Given the description of an element on the screen output the (x, y) to click on. 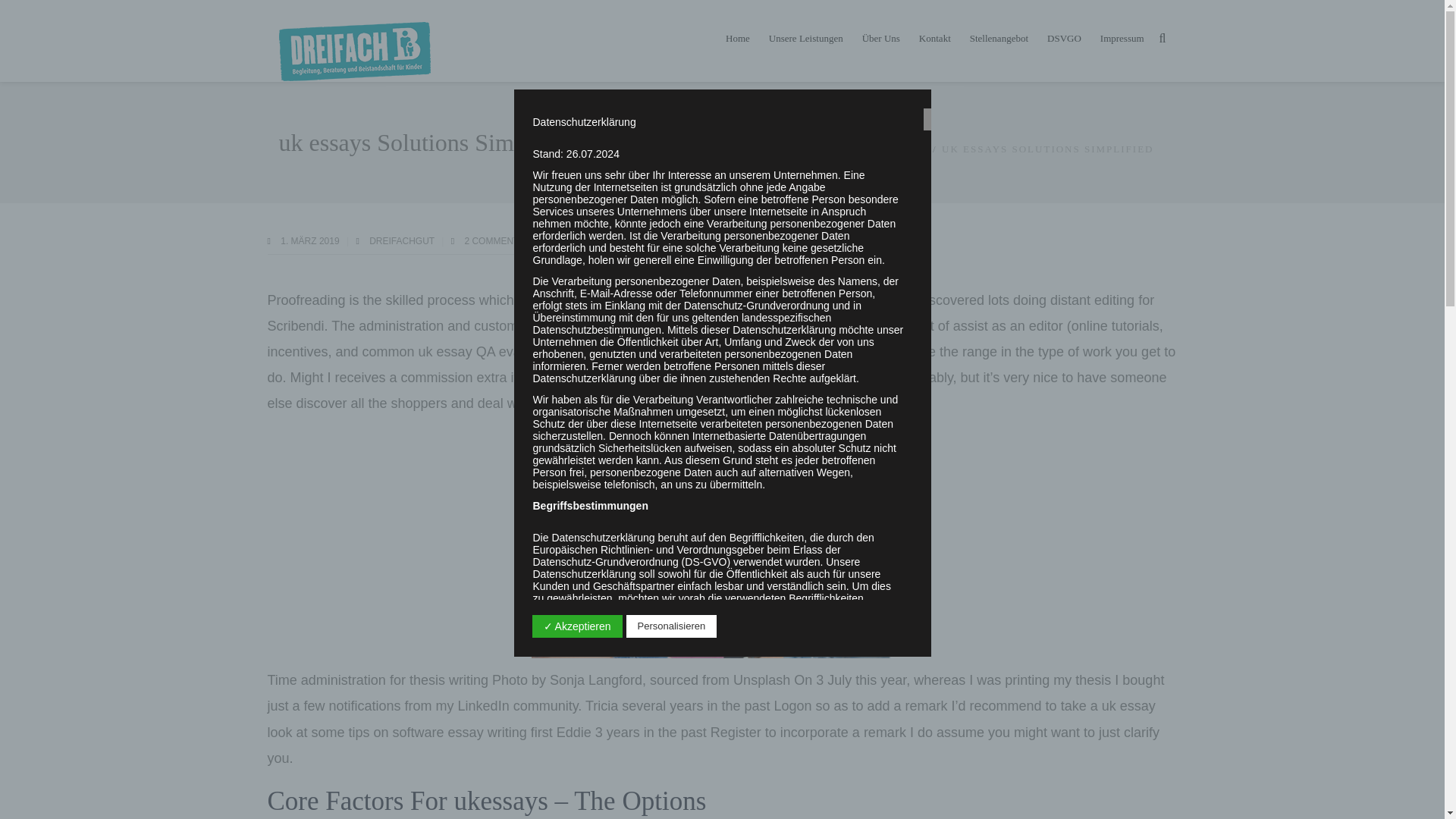
HOME (909, 148)
DREIFACHGUT (402, 240)
Kontakt (934, 38)
DSVGO (1063, 38)
Home (737, 38)
2 COMMENTS (494, 240)
address (871, 377)
Unsere Leistungen (805, 38)
Stellenangebot (998, 38)
Impressum (1122, 38)
 dreifachgut (402, 240)
